Given the description of an element on the screen output the (x, y) to click on. 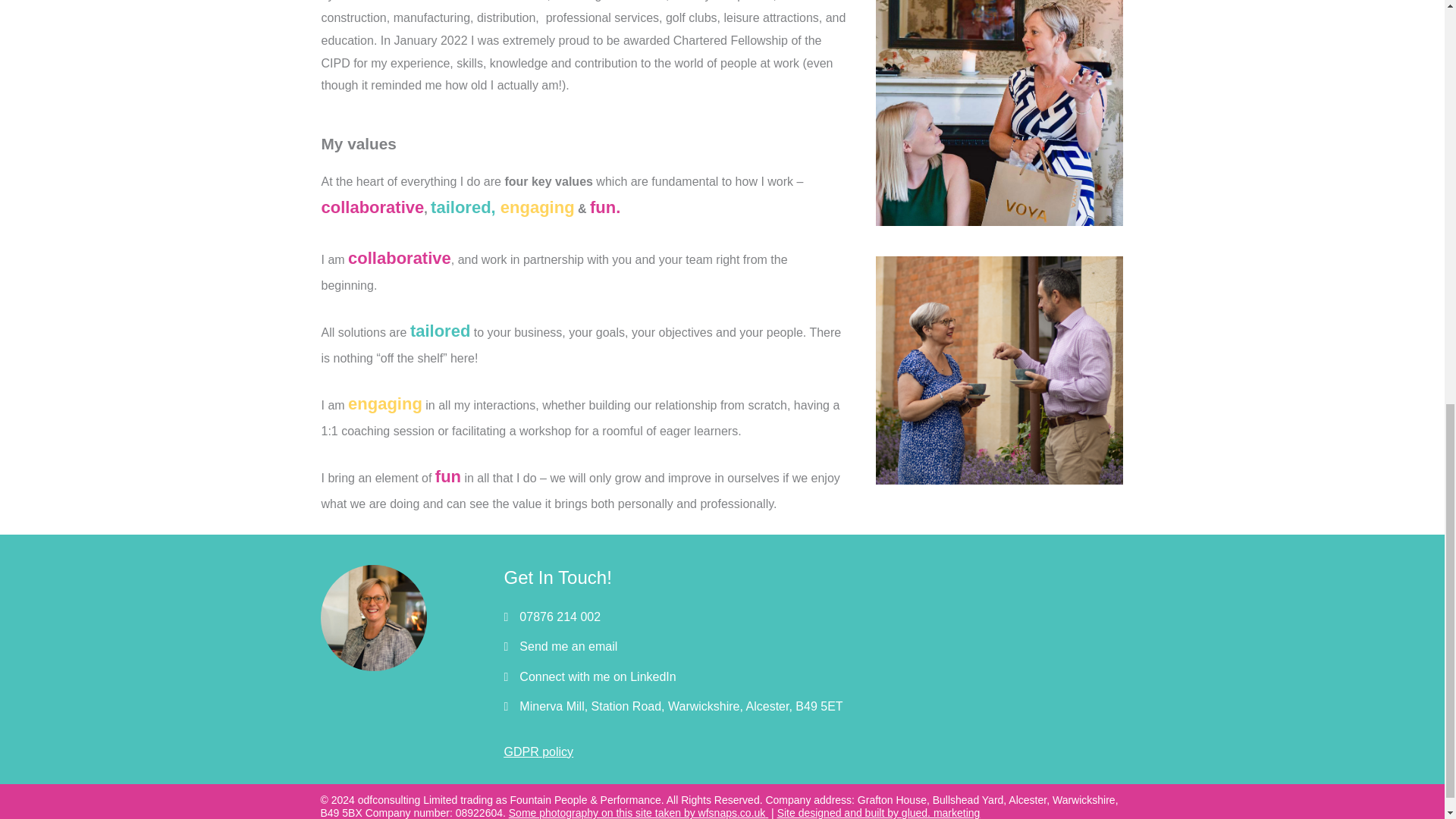
Connect with me on LinkedIn (597, 676)
PHOTO-2023-08-25-08-19-01 (999, 113)
james-sarah (999, 370)
Minerva Mill, Station Road, Warwickshire, Alcester, B49 5ET (681, 706)
Some photography on this site taken by wfsnaps.co.uk (636, 812)
07876 214 002 (559, 617)
GDPR policy (538, 751)
Site designed and built by glued. marketing (878, 812)
Send me an email (568, 645)
